Given the description of an element on the screen output the (x, y) to click on. 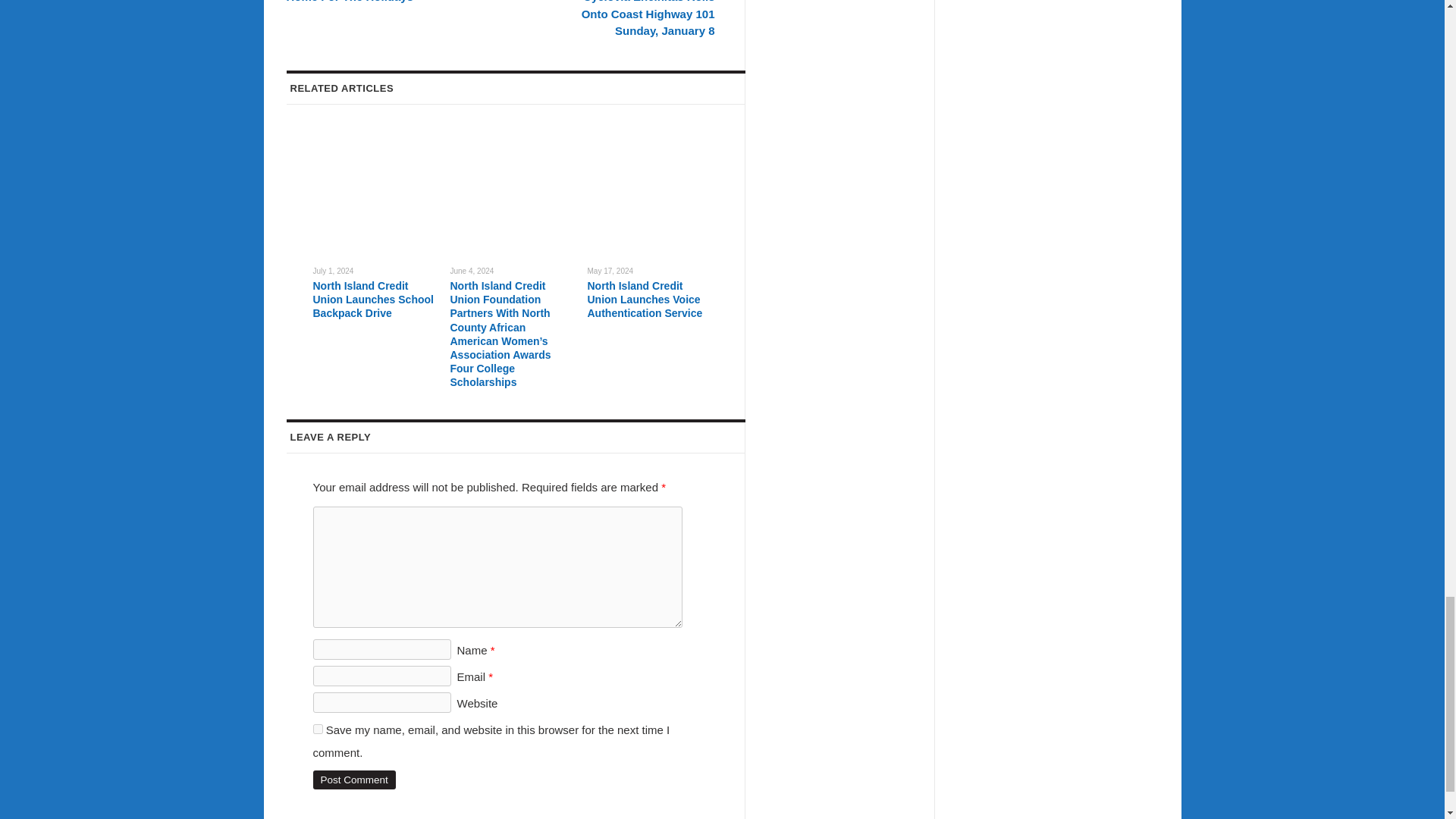
yes (317, 728)
Post Comment (353, 779)
